Given the description of an element on the screen output the (x, y) to click on. 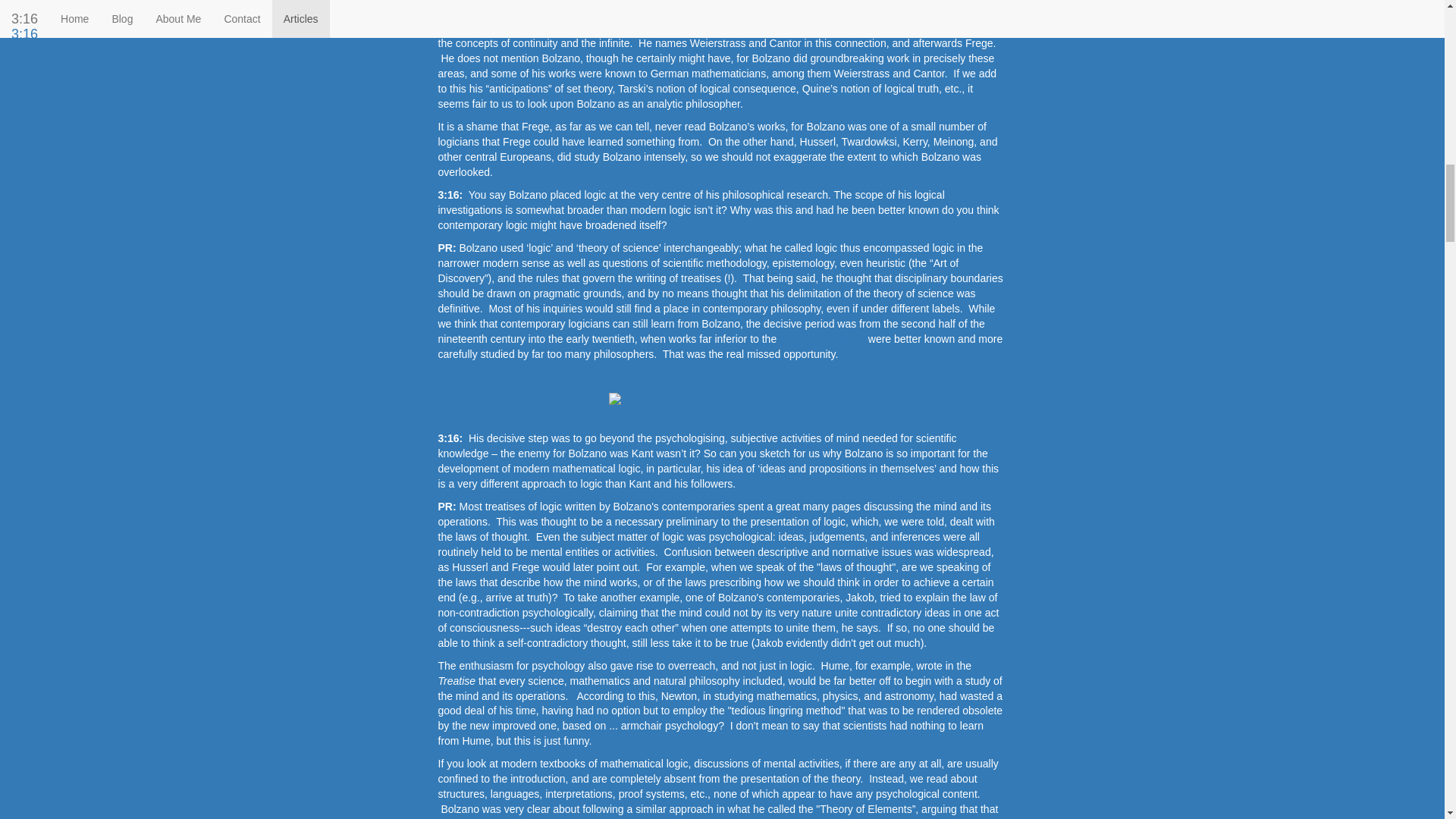
Theory of Science (821, 338)
